Given the description of an element on the screen output the (x, y) to click on. 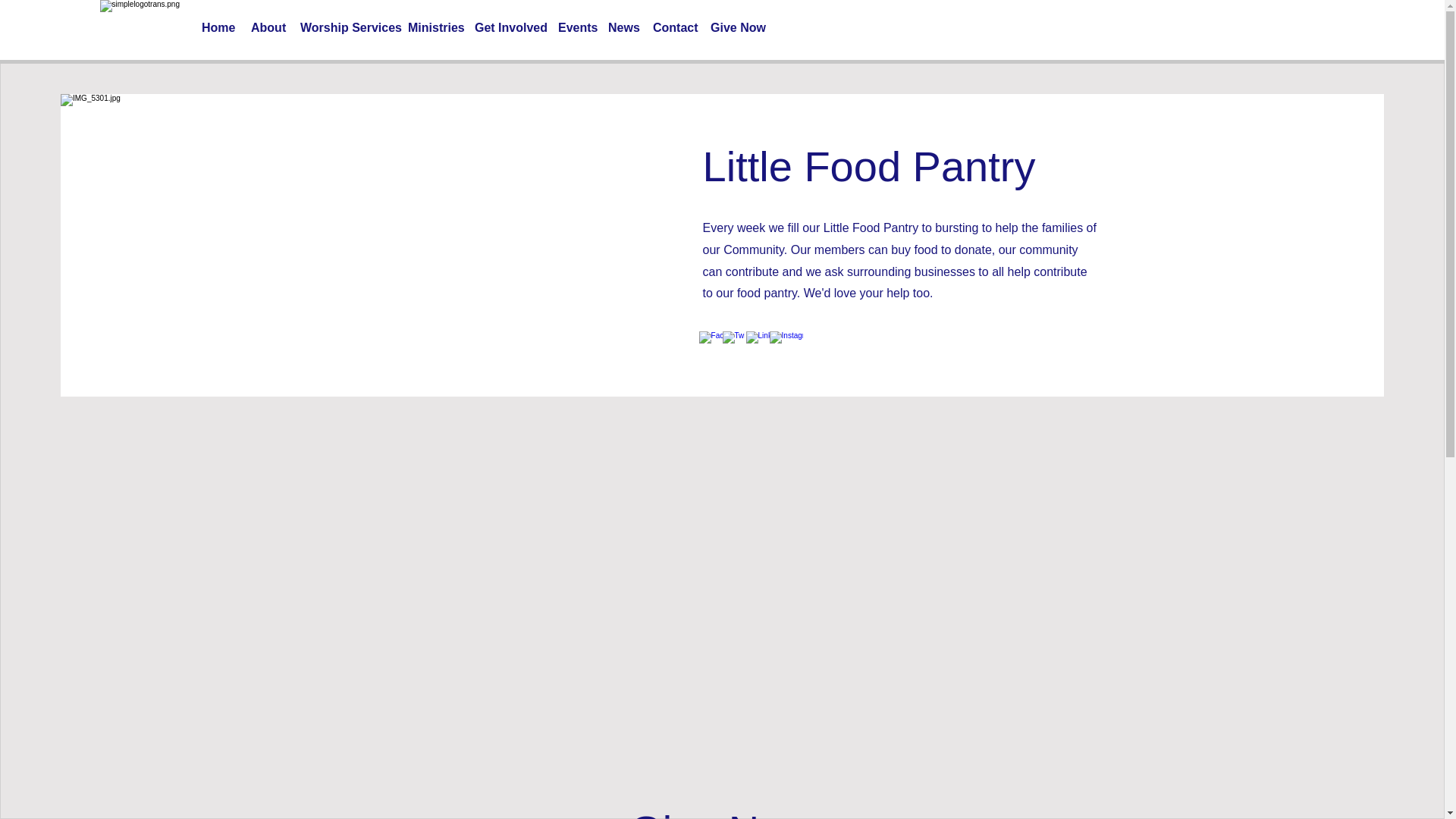
Home (218, 27)
Give Now (736, 27)
About (267, 27)
Contact (674, 27)
News (622, 27)
Get Involved (508, 27)
Events (574, 27)
Worship Services (346, 27)
Ministries (433, 27)
